Given the description of an element on the screen output the (x, y) to click on. 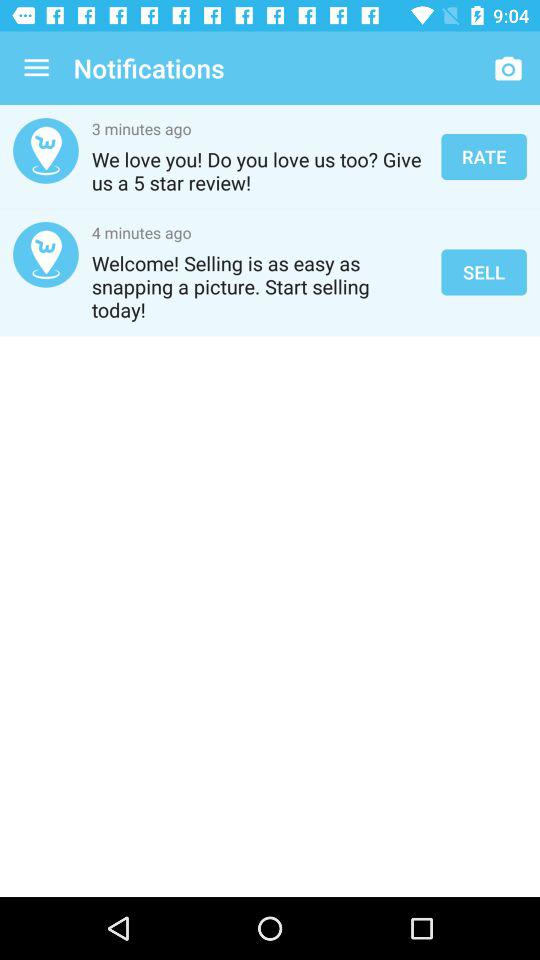
tap the item below 3 minutes ago icon (259, 171)
